Given the description of an element on the screen output the (x, y) to click on. 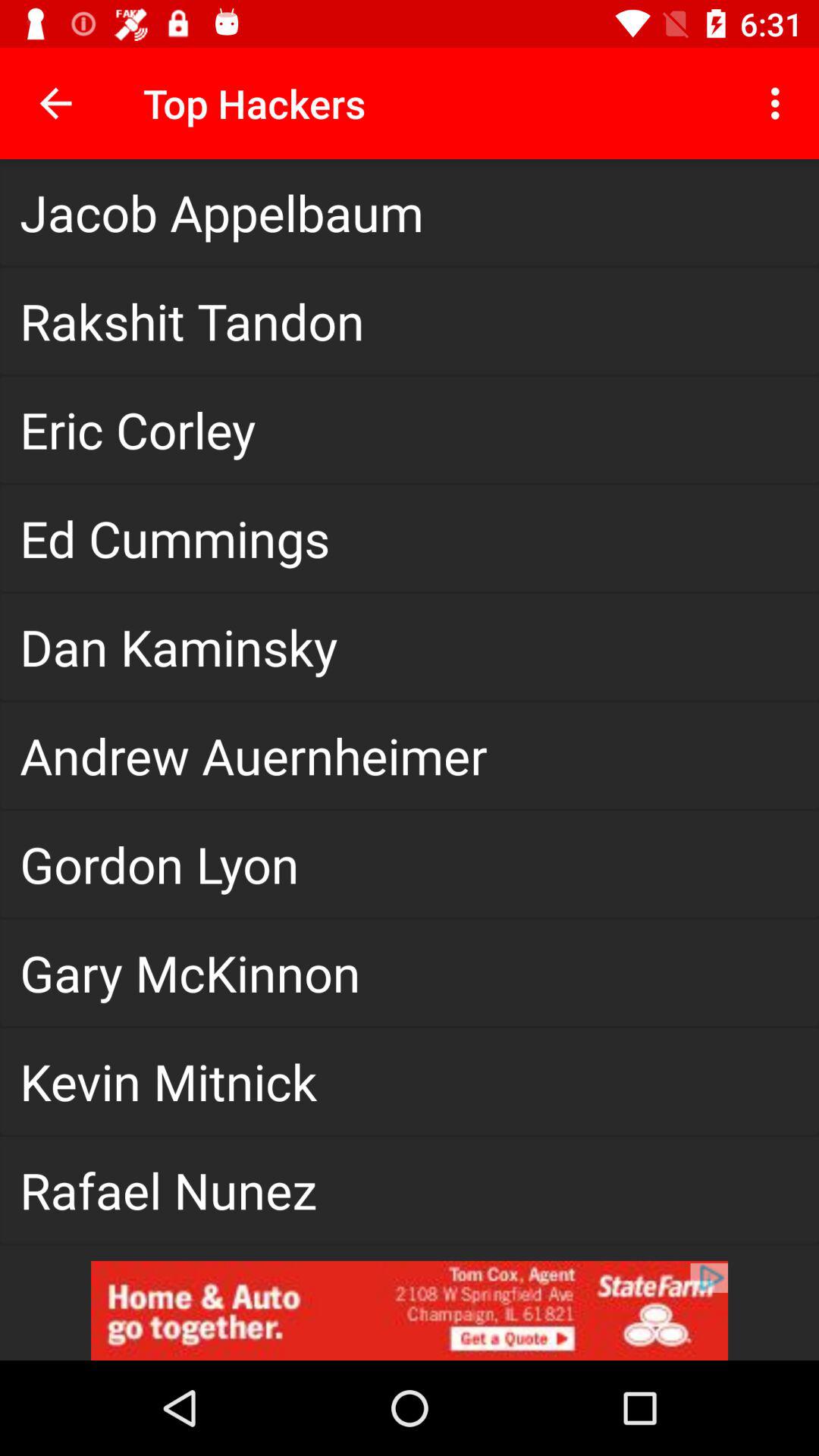
state farm advertisement (409, 1310)
